Given the description of an element on the screen output the (x, y) to click on. 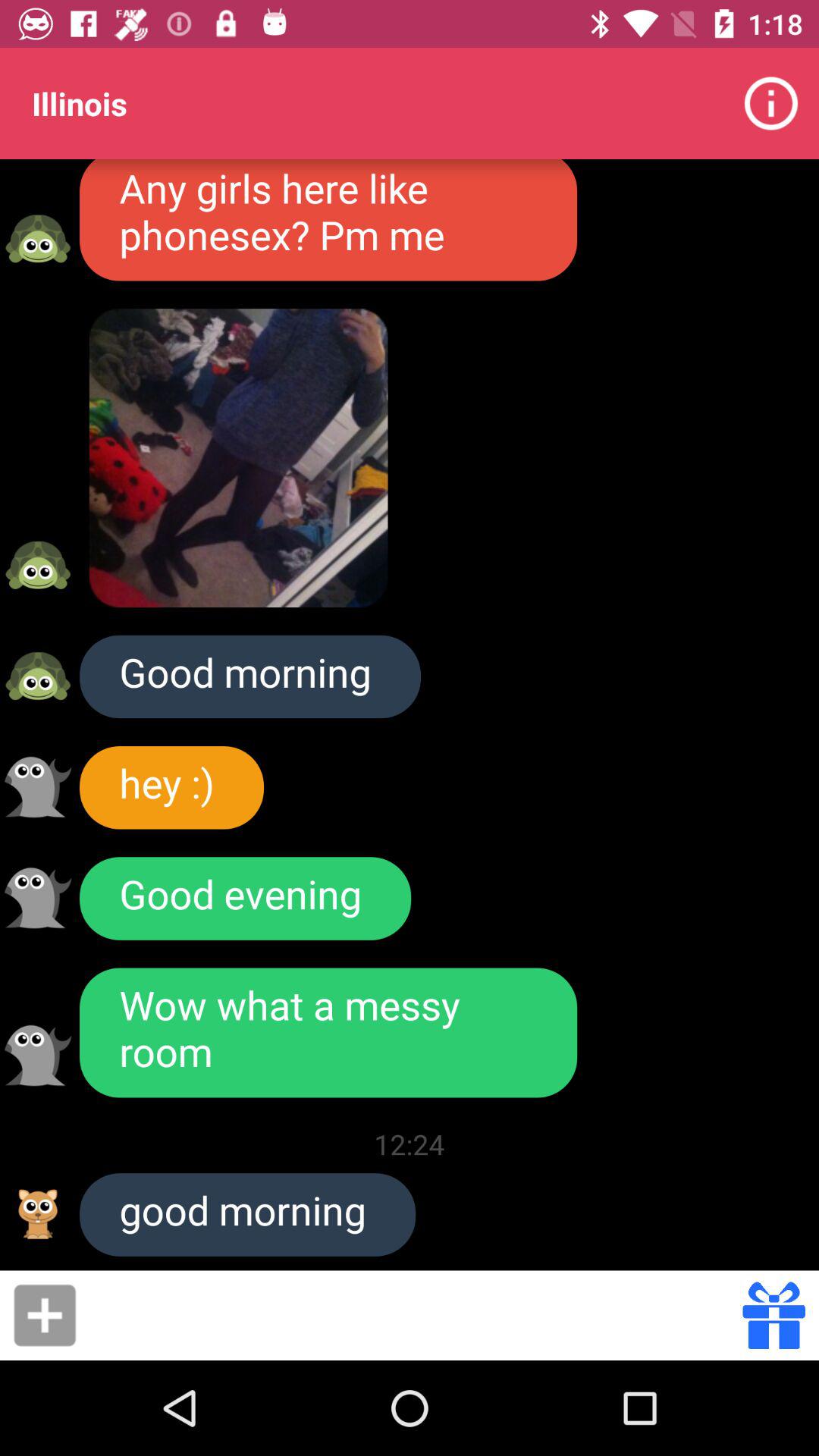
female emoji (38, 238)
